Given the description of an element on the screen output the (x, y) to click on. 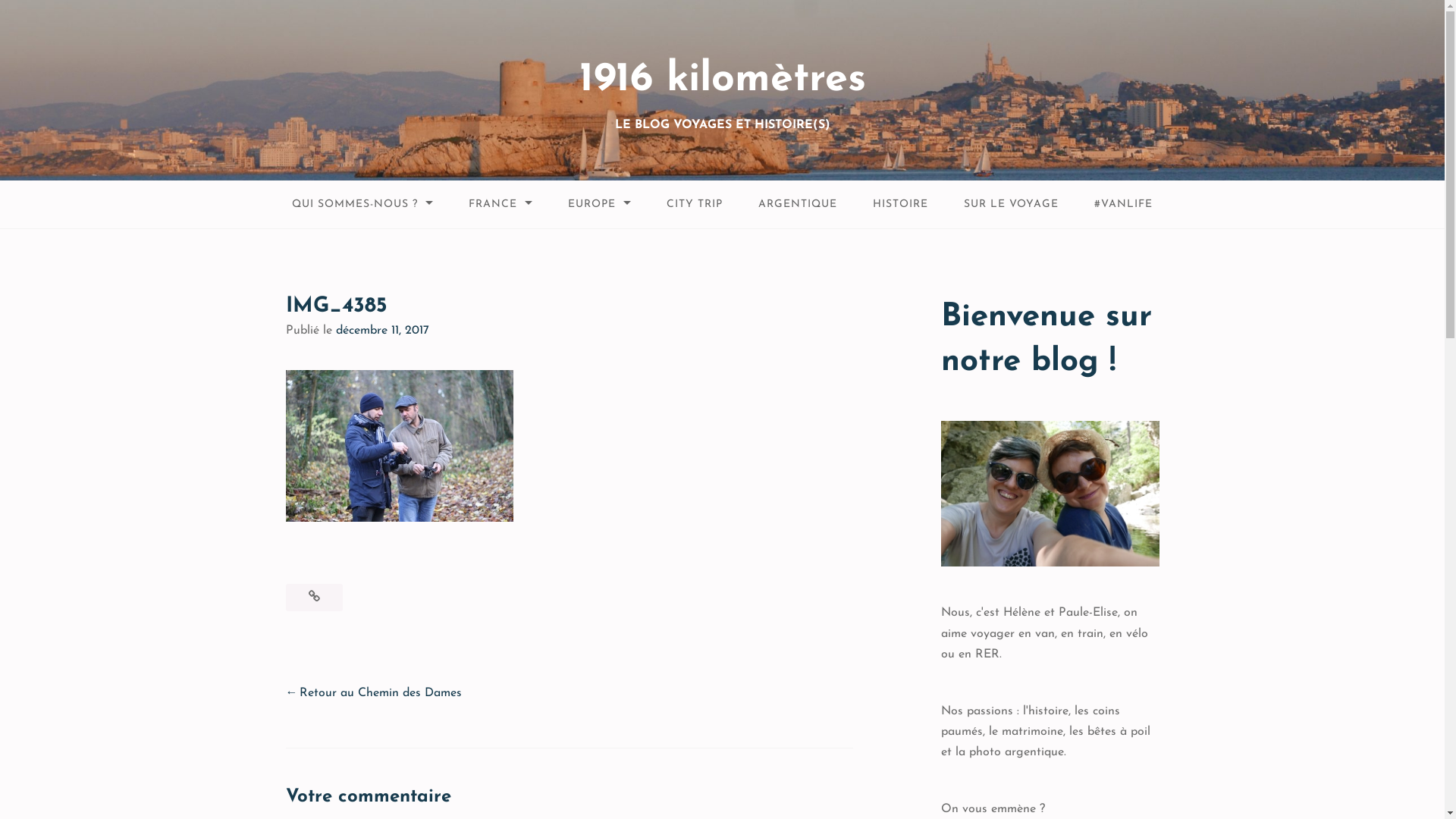
EUROPE Element type: text (599, 204)
Rechercher Element type: text (43, 13)
Retour au Chemin des Dames Element type: text (373, 693)
FRANCE Element type: text (500, 204)
#VANLIFE Element type: text (1123, 204)
SUR LE VOYAGE Element type: text (1010, 204)
ARGENTIQUE Element type: text (797, 204)
CITY TRIP Element type: text (694, 204)
HISTOIRE Element type: text (900, 204)
QUI SOMMES-NOUS ? Element type: text (362, 204)
